Given the description of an element on the screen output the (x, y) to click on. 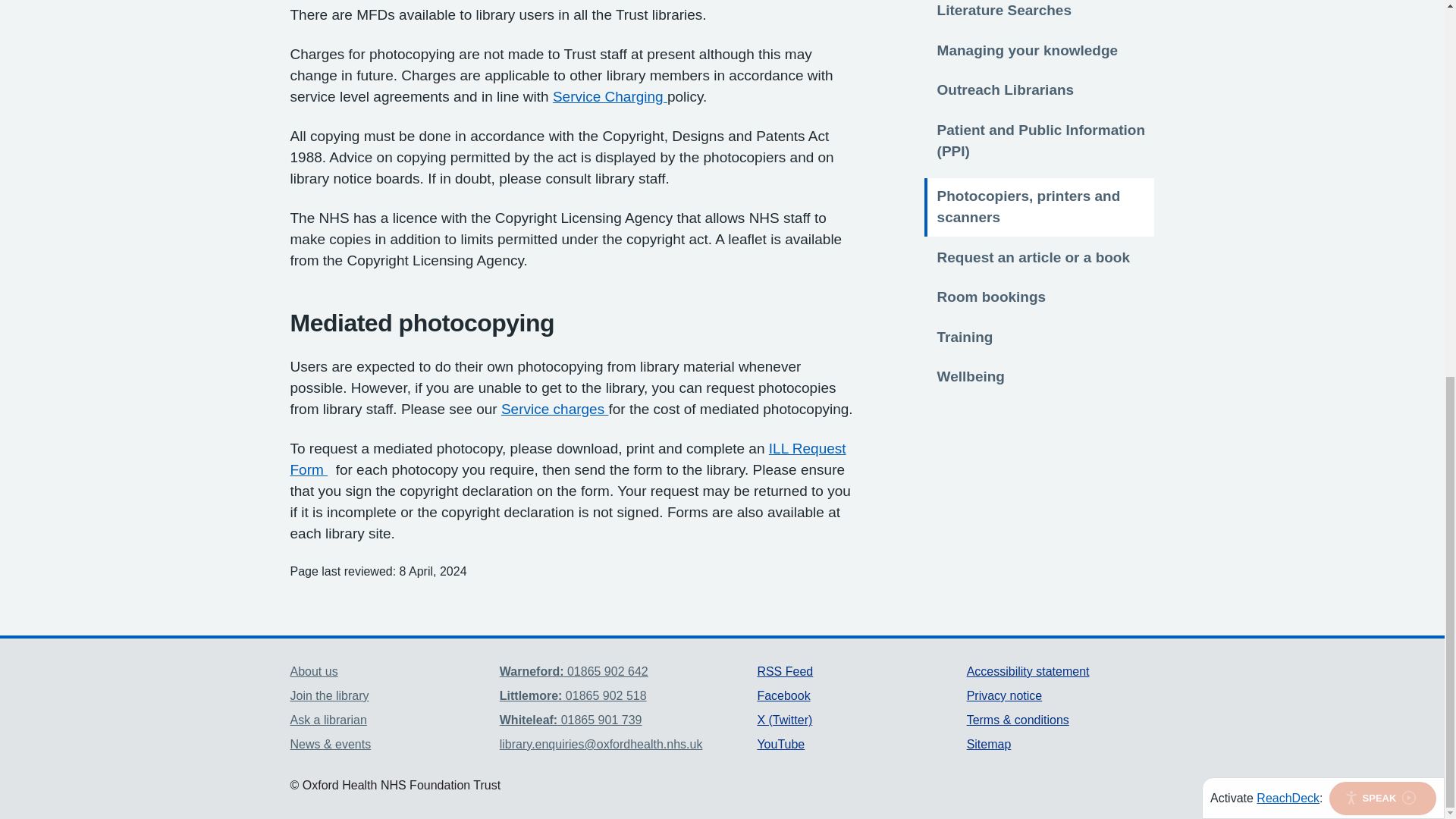
ILL Request Form (567, 458)
Service charges (609, 96)
Service charges (554, 408)
Managing your knowledge (1027, 48)
Outreach Librarians (1005, 87)
Request an article or a book (1033, 255)
Room bookings (991, 294)
Training (964, 334)
Wellbeing (970, 374)
Listen with the ReachDeck Toolbar (1382, 102)
Join the library (328, 695)
Ask a librarian (327, 719)
About us (313, 671)
Service Charging (609, 96)
Photocopiers, printers and scanners (1029, 205)
